Given the description of an element on the screen output the (x, y) to click on. 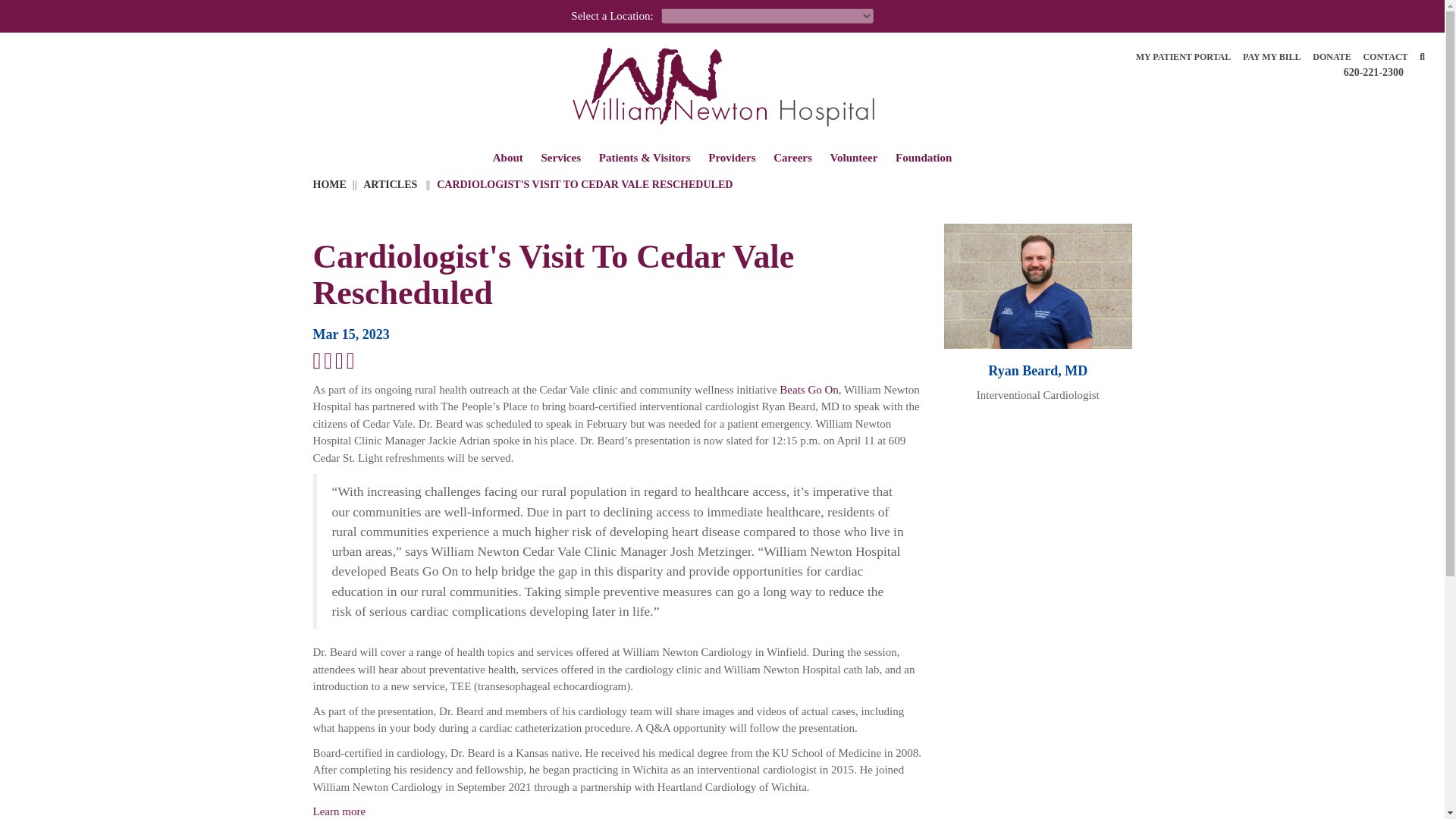
Services (560, 158)
About (507, 158)
620-221-2300 (1373, 72)
CONTACT (1384, 56)
DONATE (1332, 56)
MY PATIENT PORTAL (1183, 56)
PAY MY BILL (1271, 56)
